Given the description of an element on the screen output the (x, y) to click on. 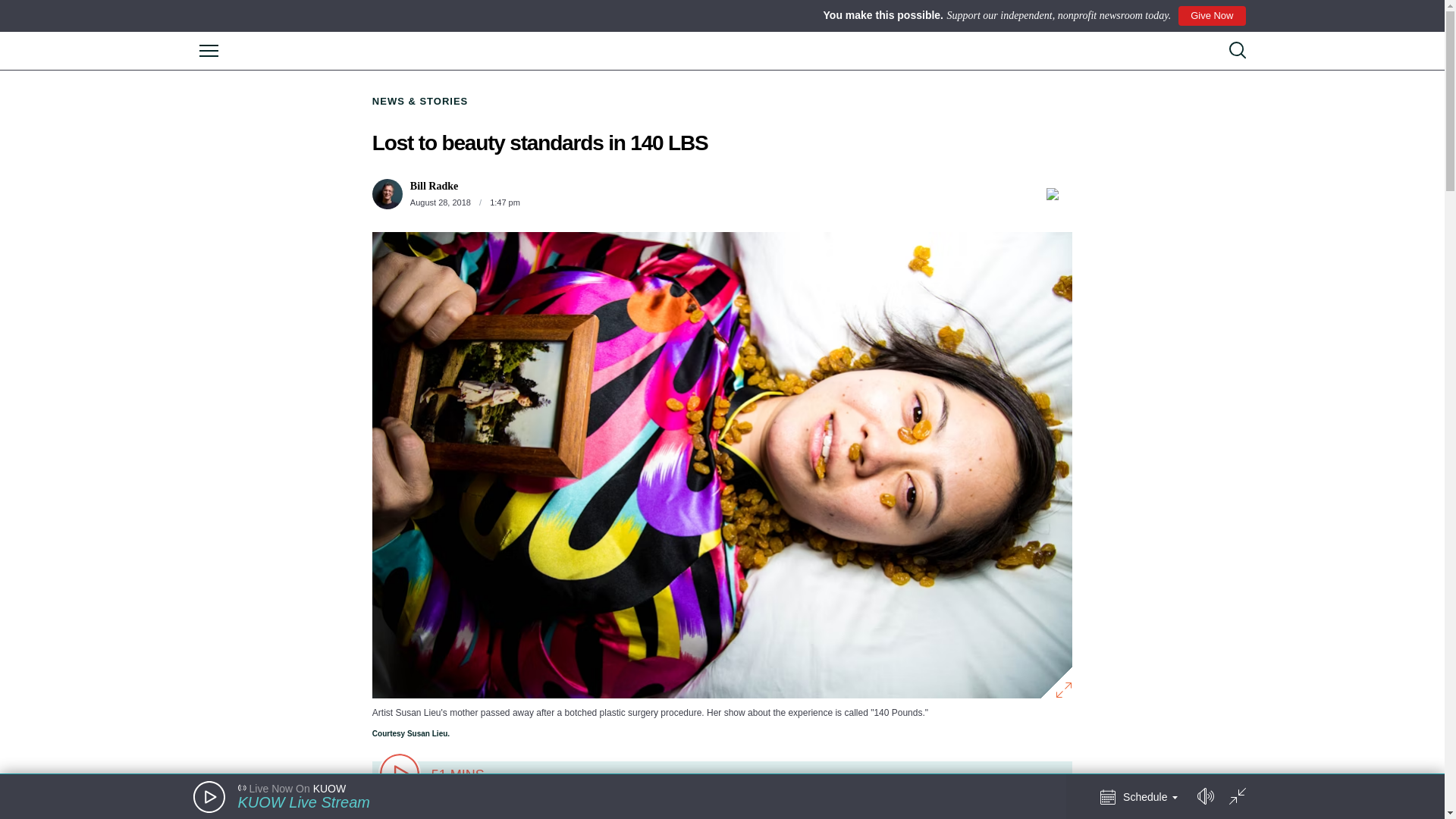
Play Audio (208, 797)
Give Now (1210, 15)
